Given the description of an element on the screen output the (x, y) to click on. 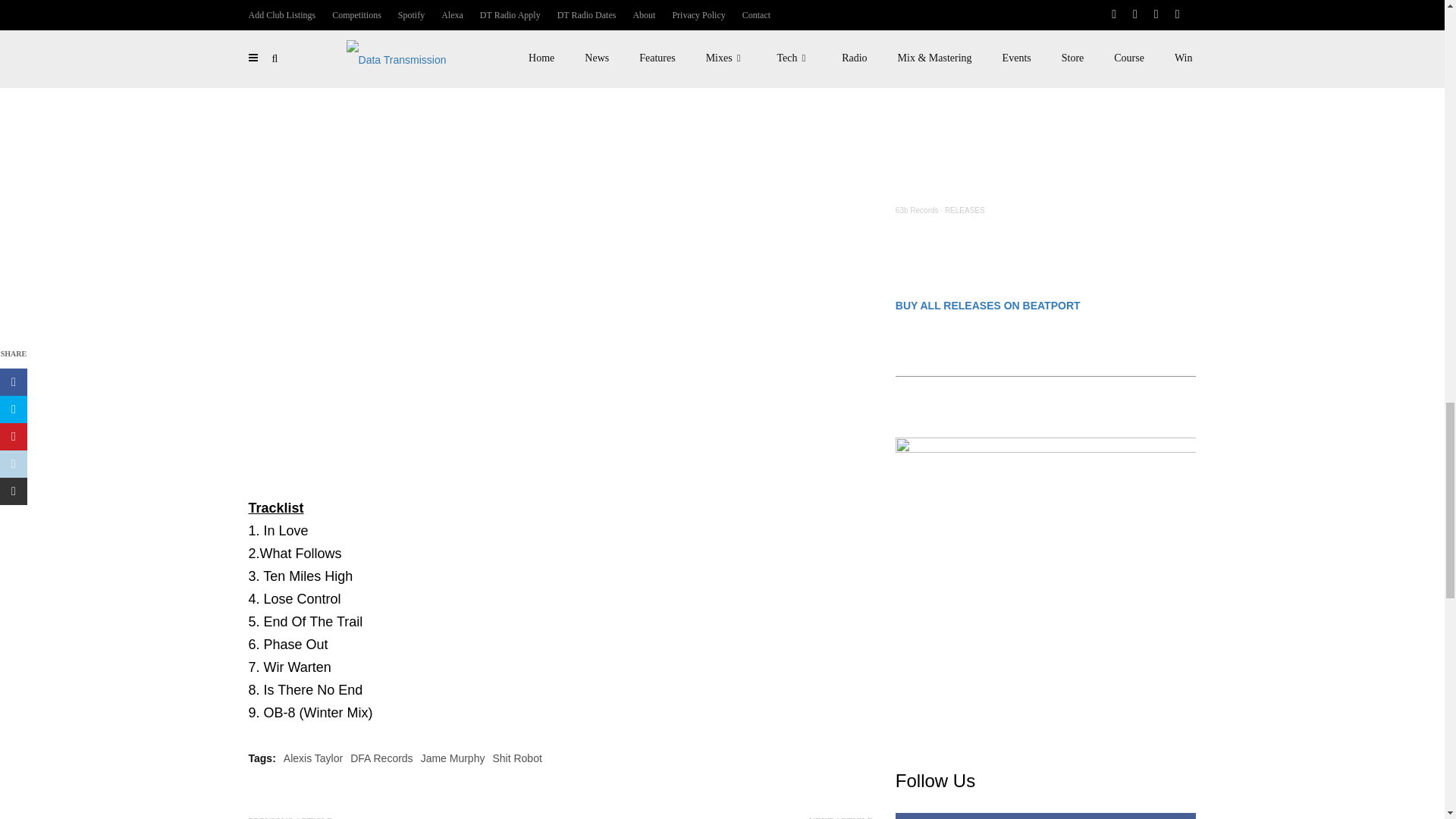
RELEASES (964, 210)
63b Records (917, 210)
